Given the description of an element on the screen output the (x, y) to click on. 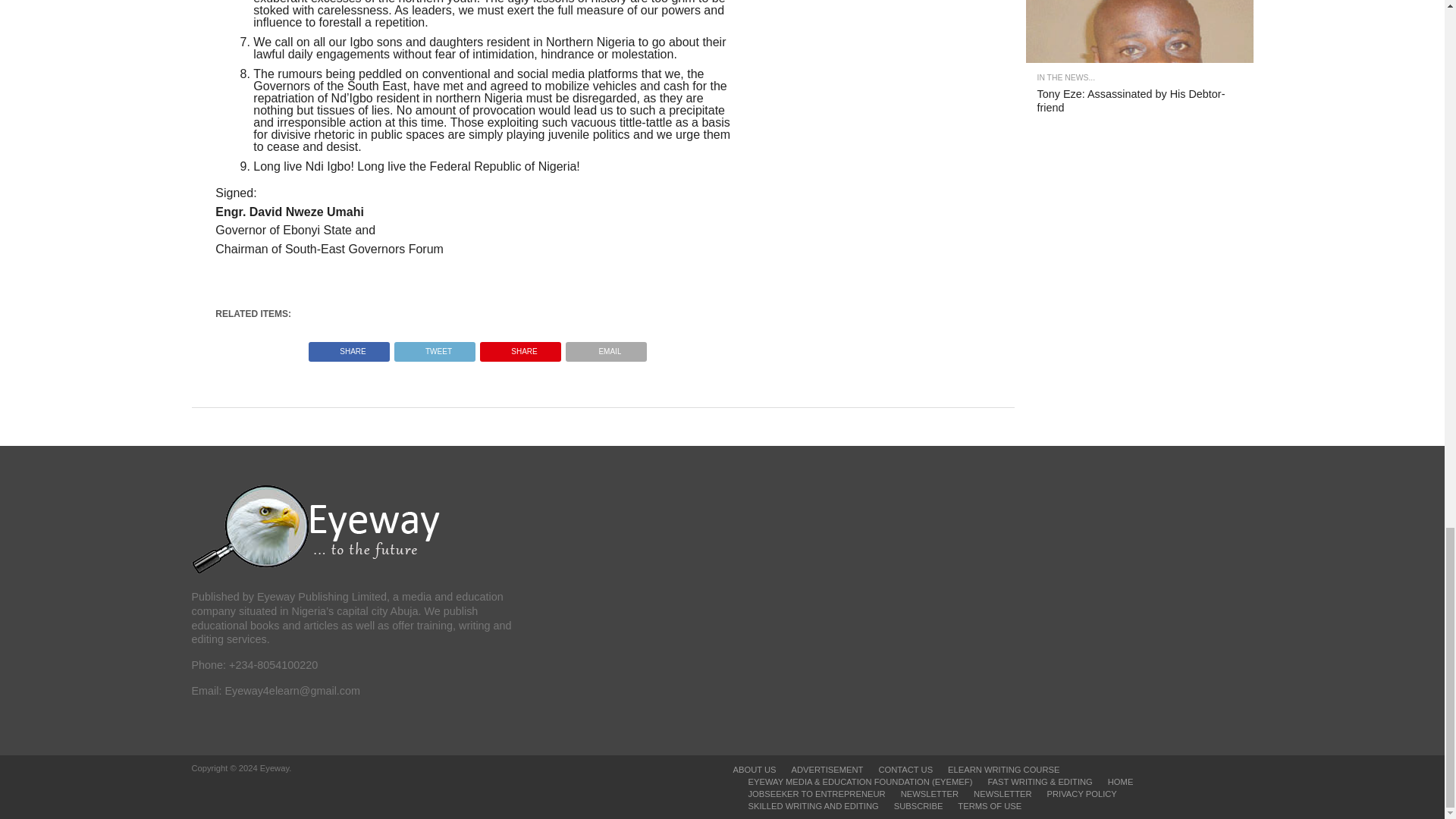
SHARE (520, 347)
Share on Facebook (349, 347)
Tweet This Post (434, 347)
EMAIL (605, 347)
TWEET (434, 347)
SHARE (349, 347)
Pin This Post (520, 347)
